Given the description of an element on the screen output the (x, y) to click on. 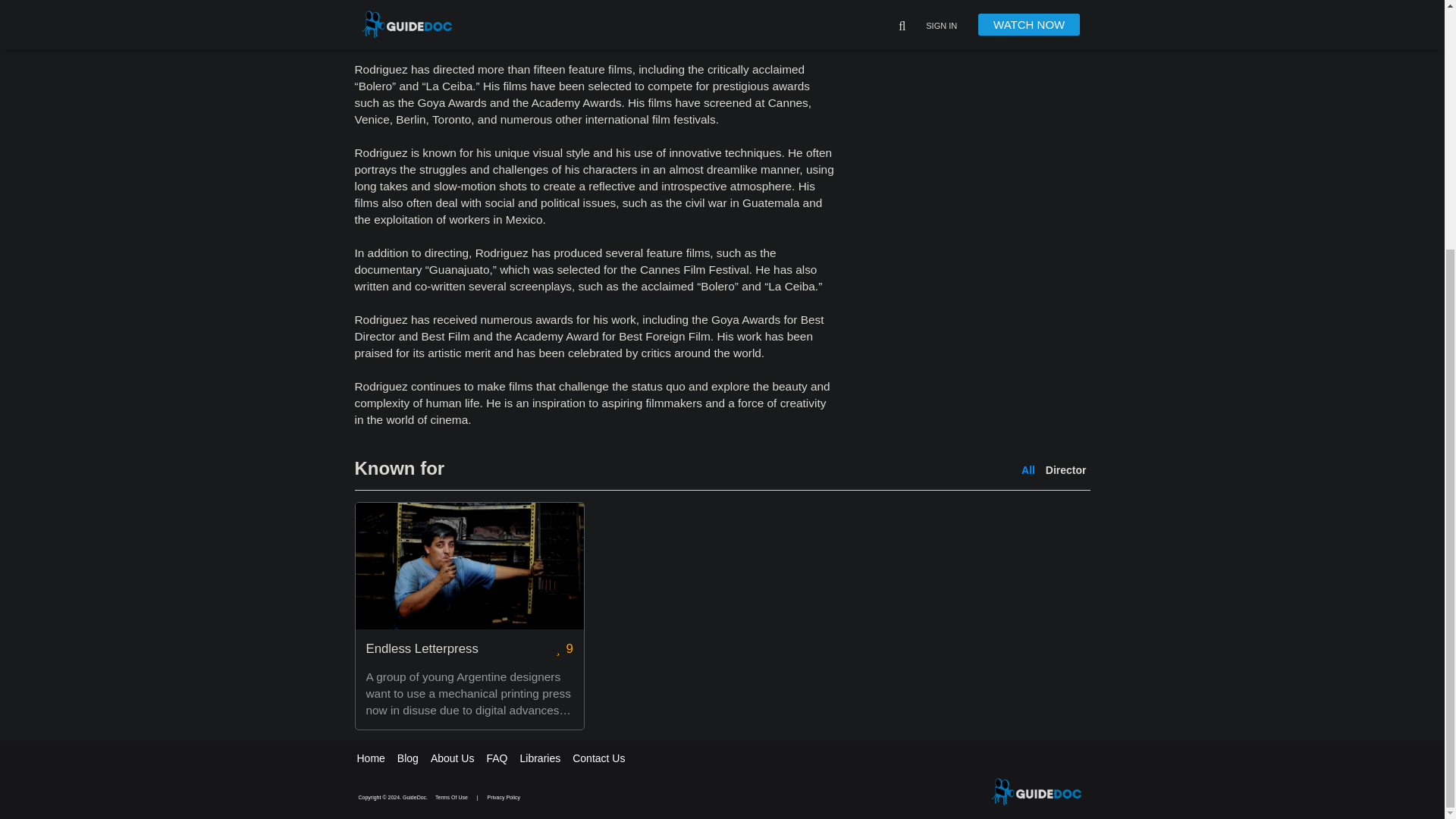
Libraries (539, 758)
All (1028, 469)
Privacy Policy (504, 797)
Contact Us (598, 758)
Director (1065, 469)
About Us (452, 758)
FAQ (496, 758)
Home (370, 758)
Terms Of Use (451, 797)
Blog (408, 758)
